Given the description of an element on the screen output the (x, y) to click on. 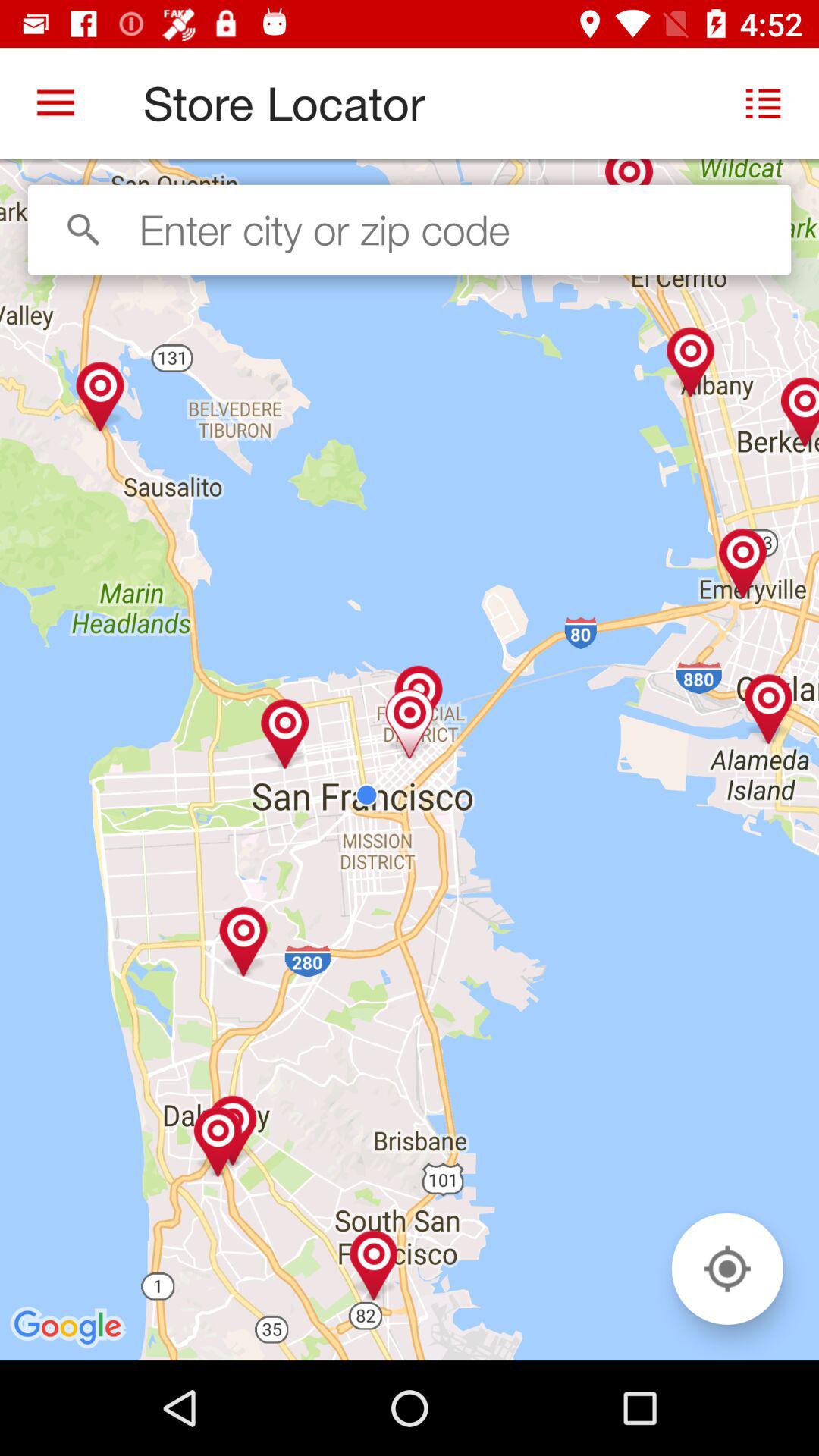
turn off the icon at the center (409, 759)
